Given the description of an element on the screen output the (x, y) to click on. 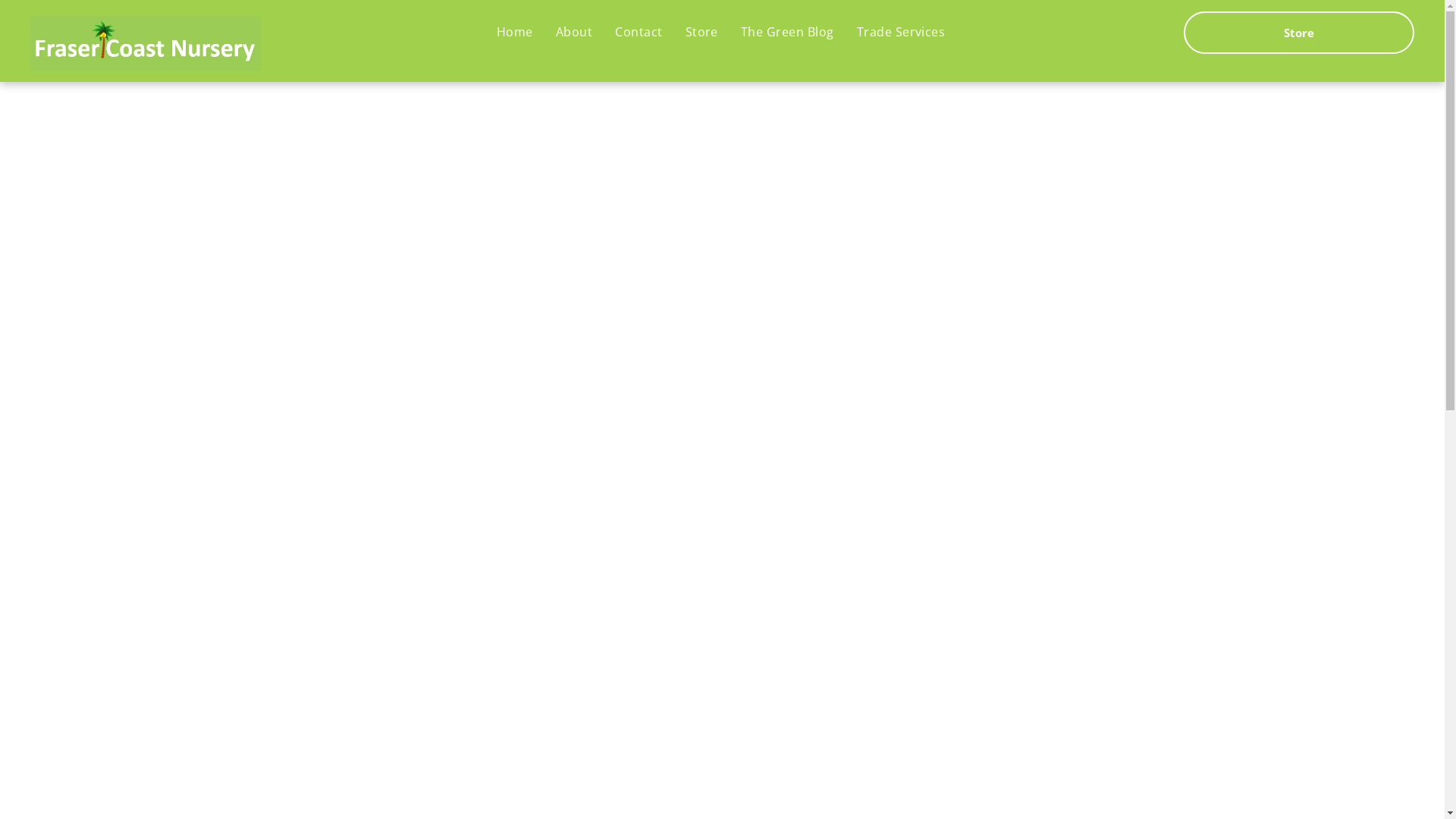
Contact Element type: text (638, 31)
Store Element type: text (701, 31)
The Green Blog Element type: text (787, 31)
About Element type: text (573, 31)
Home Element type: text (514, 31)
Store Element type: text (1298, 32)
Trade Services Element type: text (901, 31)
